Given the description of an element on the screen output the (x, y) to click on. 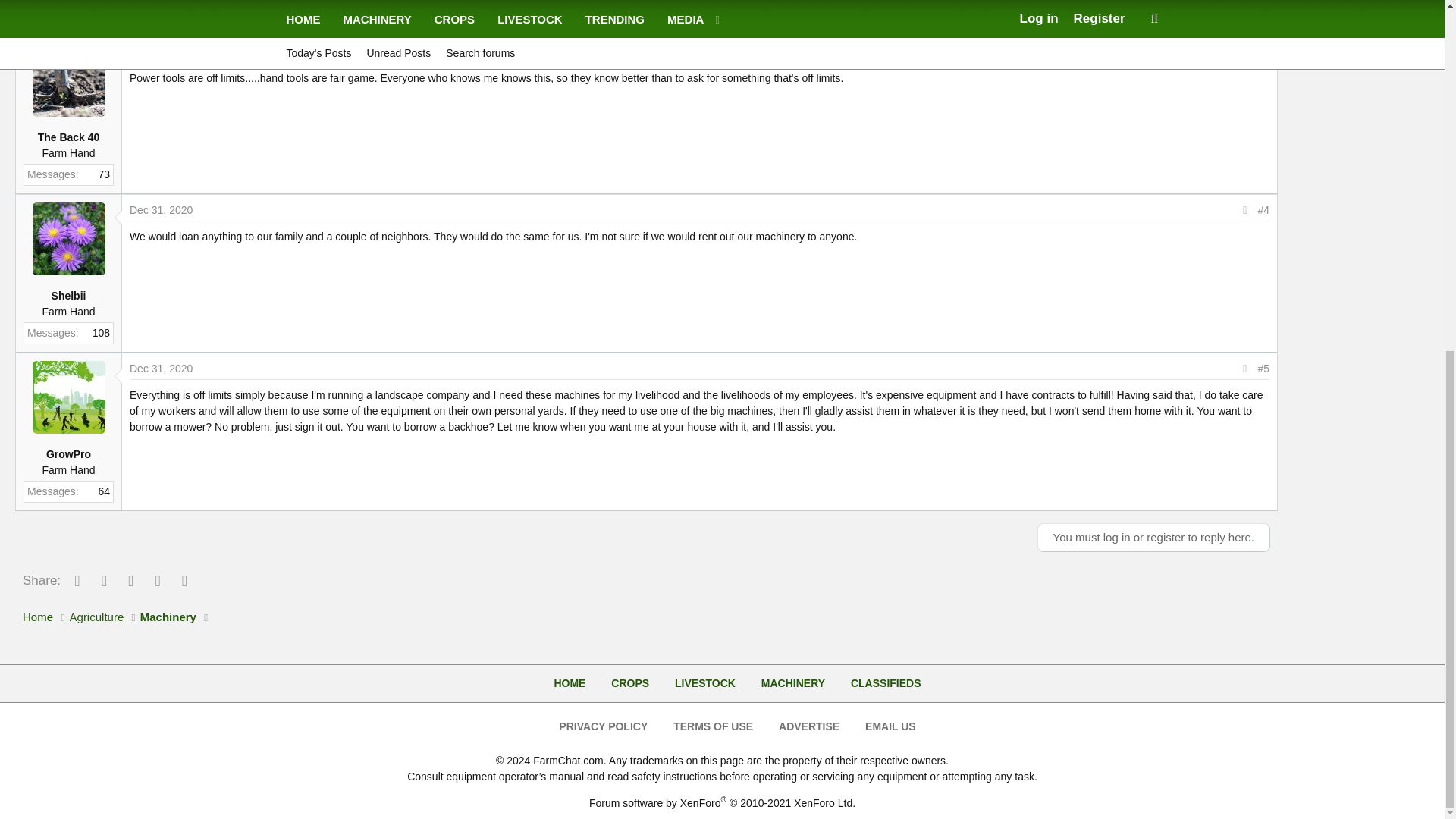
GrowPro (68, 396)
Shelbii (68, 238)
The Back 40 (68, 79)
Dec 30, 2020 at 9:09 PM (160, 50)
Dec 31, 2020 at 8:31 AM (160, 209)
Dec 30, 2020 (160, 50)
Dec 31, 2020 at 7:33 PM (160, 367)
